Given the description of an element on the screen output the (x, y) to click on. 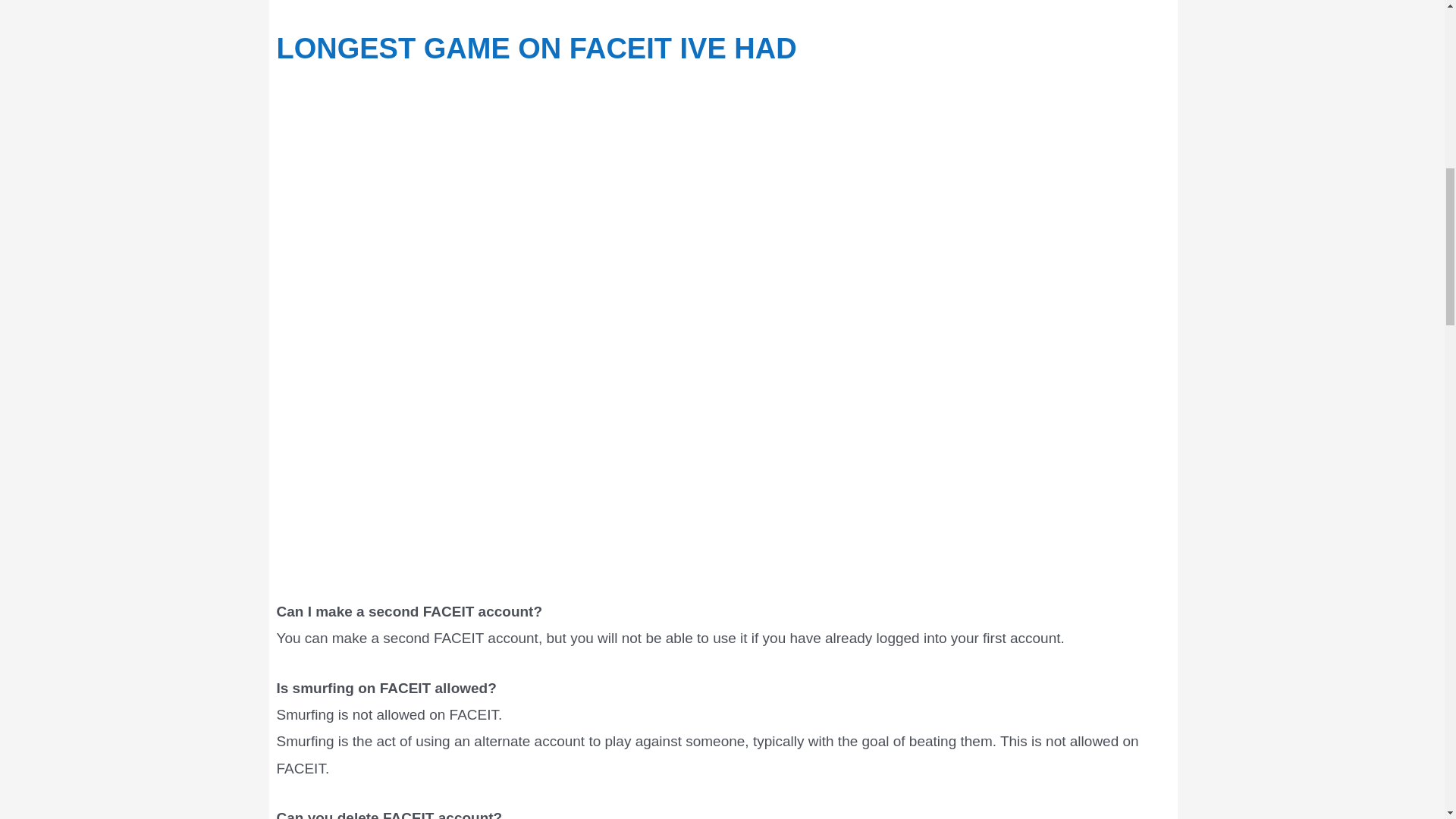
Can you have 2 Faceit accounts? (722, 8)
